Given the description of an element on the screen output the (x, y) to click on. 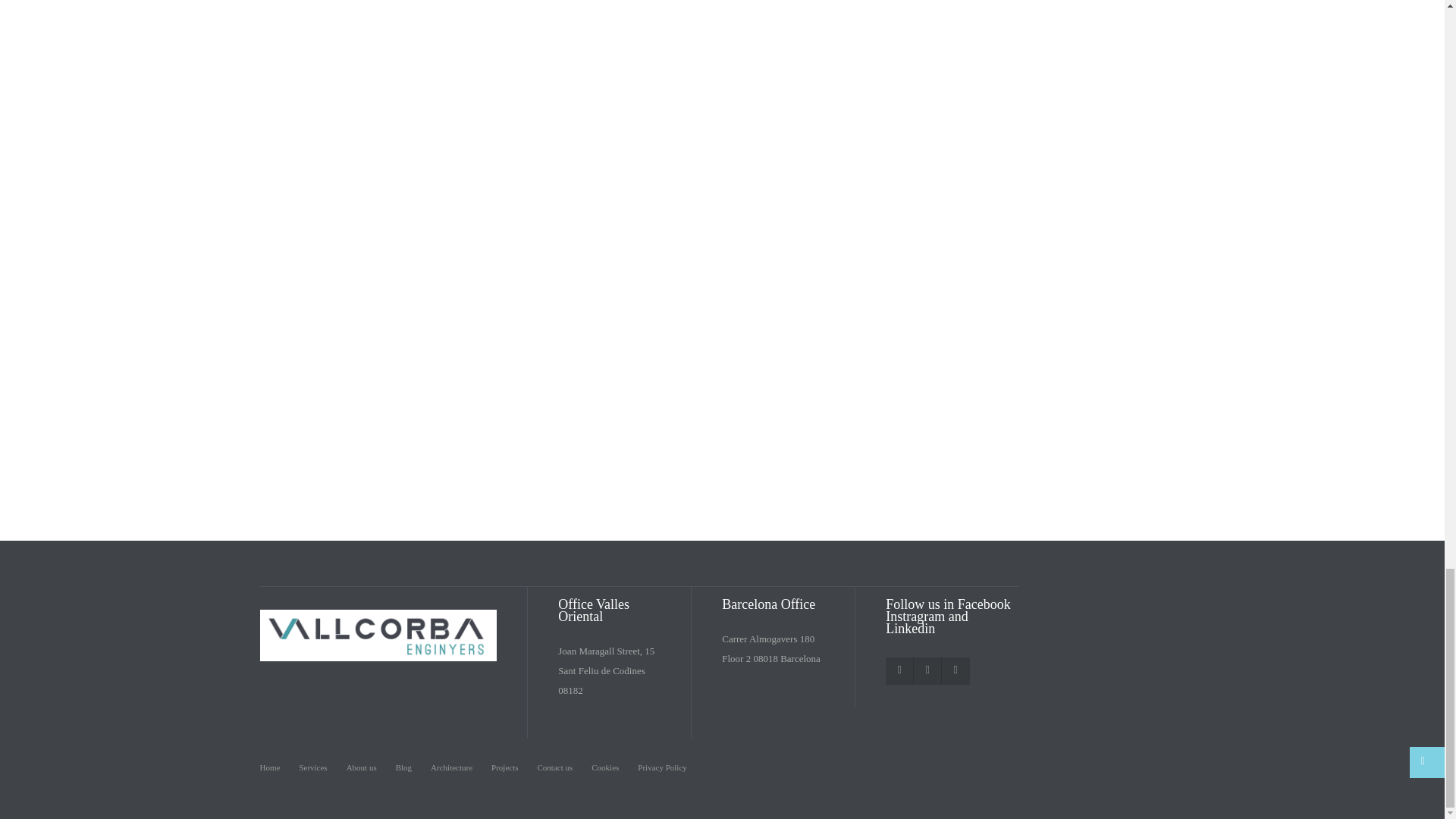
Facebook (899, 670)
LinkedIn (954, 670)
Instagram (927, 670)
